Given the description of an element on the screen output the (x, y) to click on. 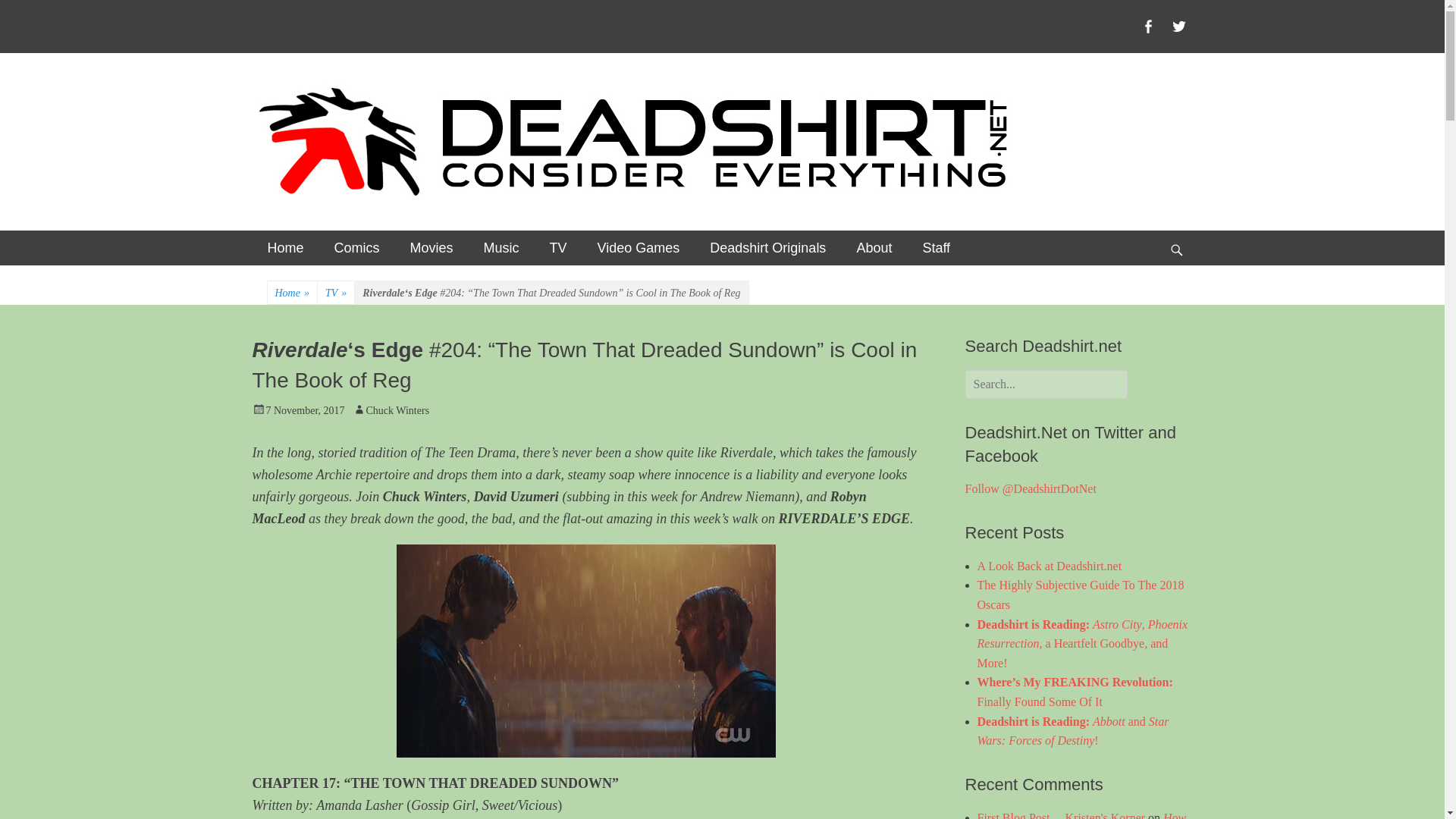
Home (284, 247)
About (874, 247)
TV (558, 247)
Search for: (1044, 384)
Comics (356, 247)
Video Games (638, 247)
Deadshirt Originals (767, 247)
Music (501, 247)
Movies (431, 247)
Staff (936, 247)
Deadshirt (328, 108)
Twitter (1178, 26)
Facebook (1147, 26)
Facebook (1147, 26)
Twitter (1178, 26)
